Given the description of an element on the screen output the (x, y) to click on. 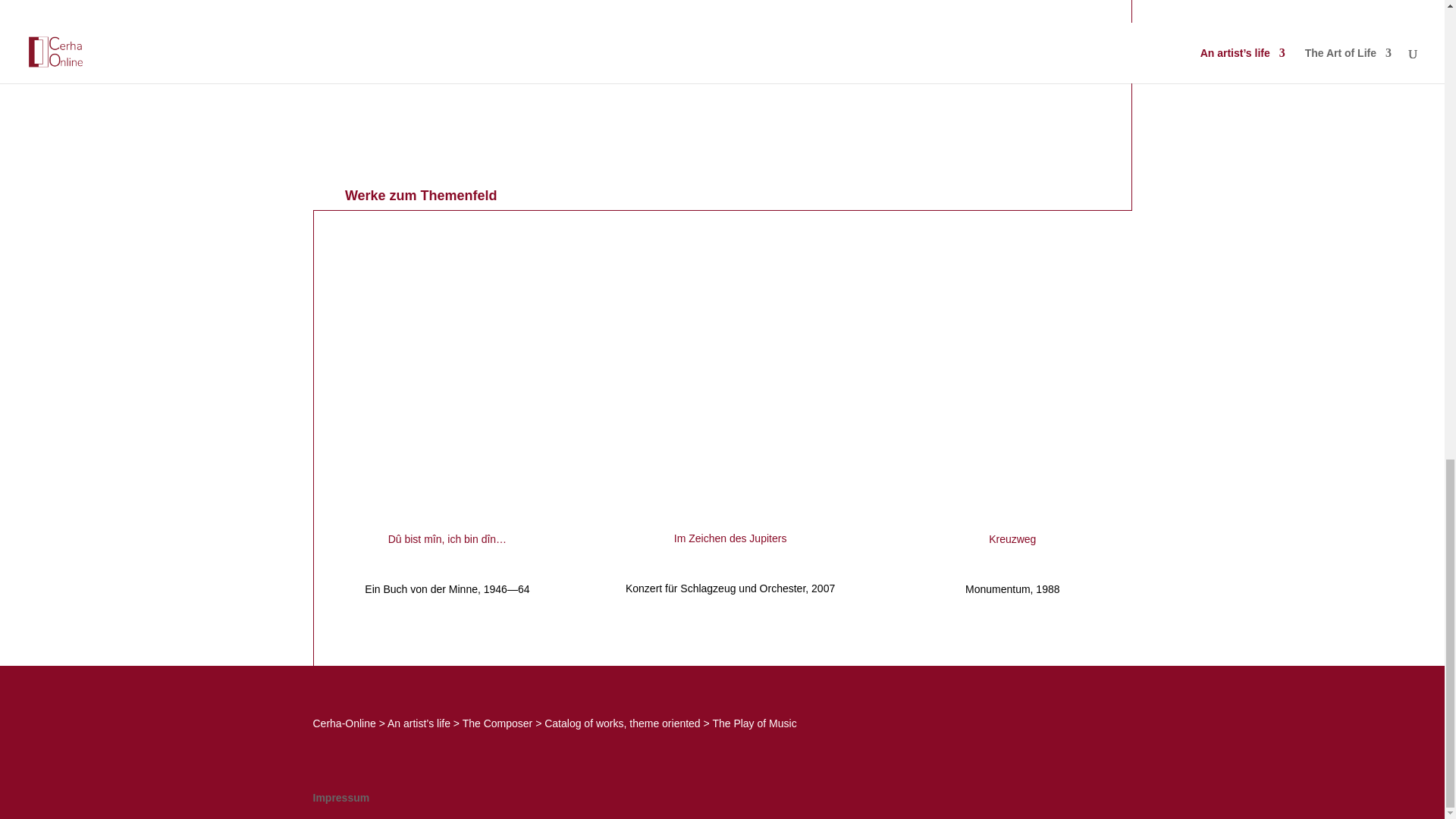
Go to The Composer. (497, 723)
Cerha-Online (344, 723)
Kreuzweg (1011, 539)
Go to Catalog of works, theme oriented. (622, 723)
Im Zeichen des Jupiters (730, 538)
Go to Cerha-Online. (344, 723)
